Given the description of an element on the screen output the (x, y) to click on. 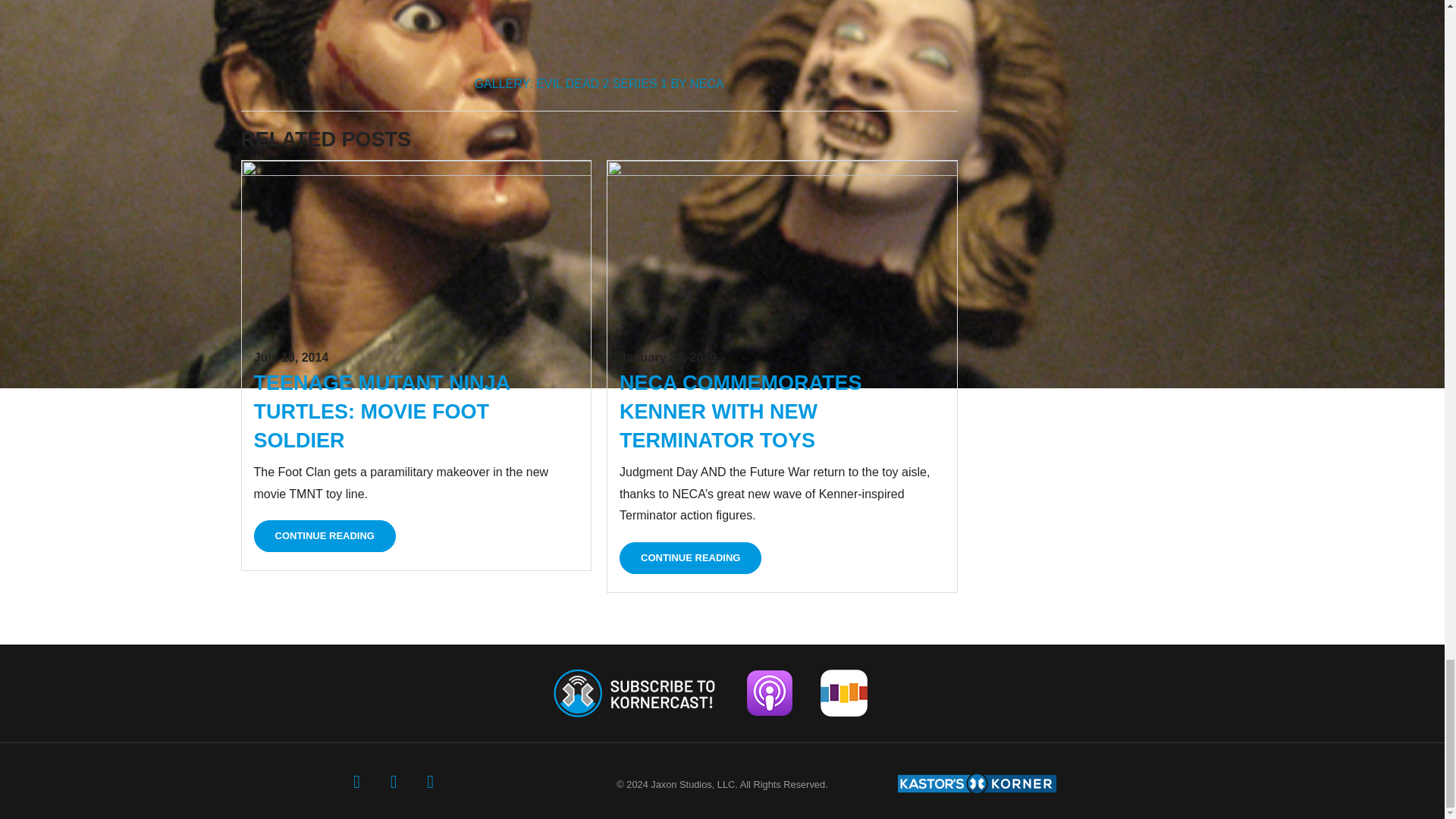
CONTINUE READING (323, 536)
CONTINUE READING (690, 558)
NECA COMMEMORATES KENNER WITH NEW TERMINATOR TOYS (740, 411)
DEADITE ASH (598, 34)
GALLERY: EVIL DEAD 2 SERIES 1 BY NECA (598, 83)
TEENAGE MUTANT NINJA TURTLES: MOVIE FOOT SOLDIER (381, 411)
